Given the description of an element on the screen output the (x, y) to click on. 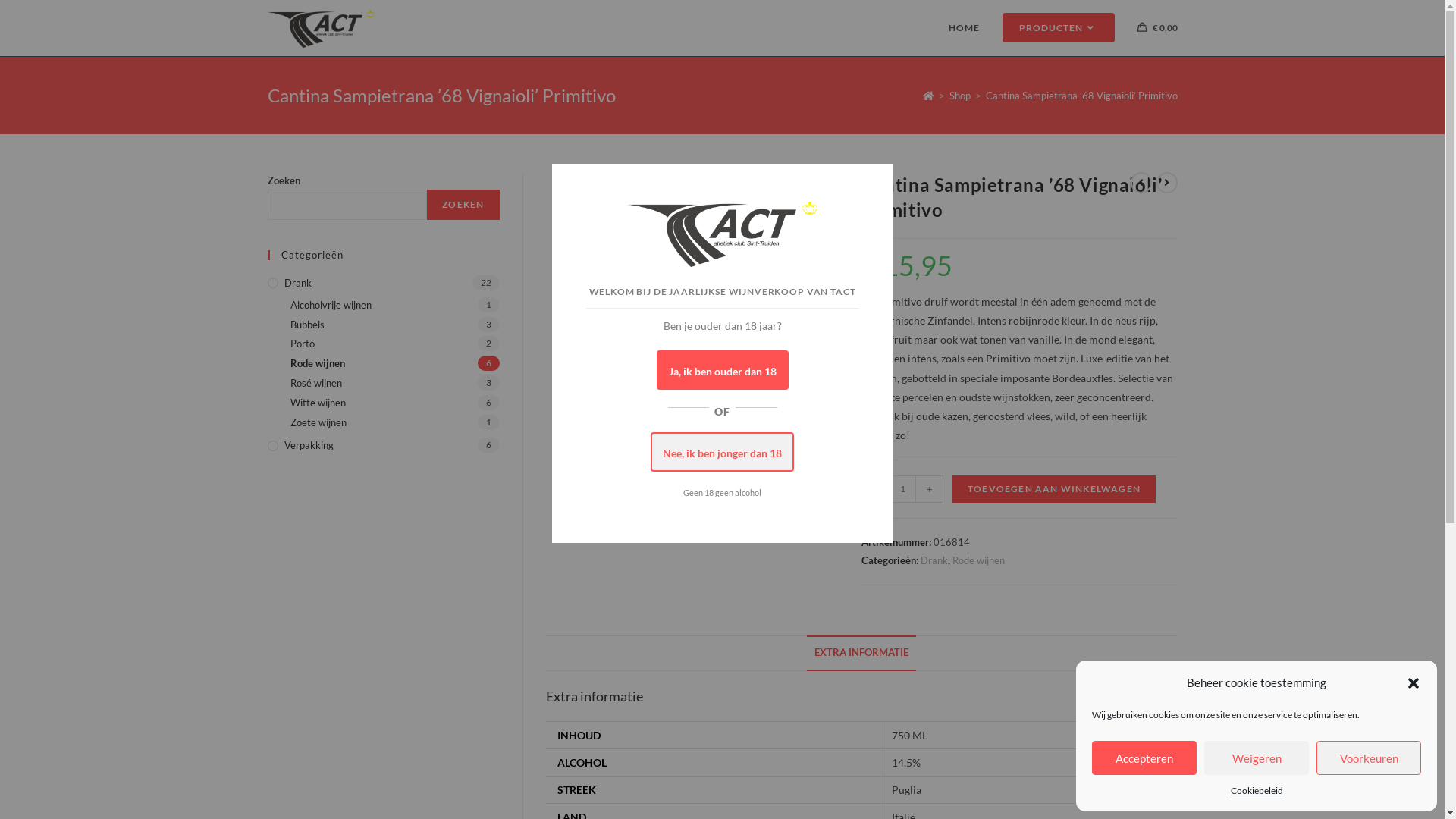
Accepteren Element type: text (1144, 757)
Porto Element type: text (393, 343)
Rode wijnen Element type: text (393, 363)
- Element type: text (874, 488)
Nee, ik ben jonger dan 18 Element type: text (721, 451)
HOME Element type: text (964, 28)
EXTRA INFORMATIE Element type: text (861, 653)
PRODUCTEN Element type: text (1057, 28)
Drank Element type: text (382, 283)
Rode wijnen Element type: text (978, 560)
Verpakking Element type: text (382, 445)
Witte wijnen Element type: text (393, 403)
Ja, ik ben ouder dan 18 Element type: text (722, 369)
Shop Element type: text (959, 95)
ZOEKEN Element type: text (462, 204)
Bubbels Element type: text (393, 324)
TOEVOEGEN AAN WINKELWAGEN Element type: text (1053, 488)
Cookiebeleid Element type: text (1256, 790)
Drank Element type: text (933, 560)
cantina_sampietrana__68_vignaioli_primitivo Element type: hover (659, 285)
+ Element type: text (929, 488)
Weigeren Element type: text (1256, 757)
Zoete wijnen Element type: text (393, 422)
Voorkeuren Element type: text (1368, 757)
1662 Element type: text (1047, 24)
Alcoholvrije wijnen Element type: text (393, 305)
